Given the description of an element on the screen output the (x, y) to click on. 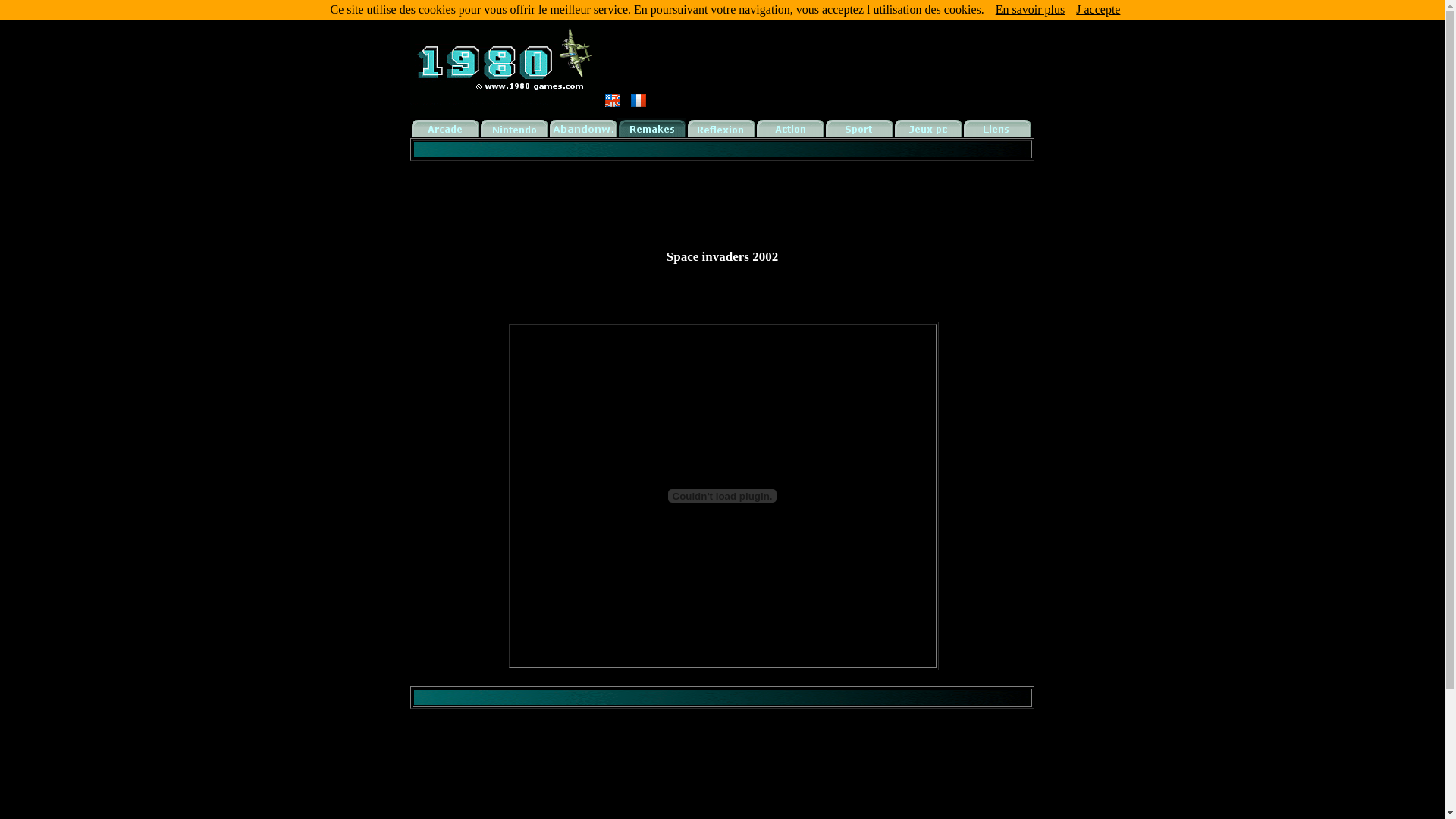
En savoir plus Element type: text (1030, 9)
Advertisement Element type: hover (721, 197)
J accepte Element type: text (1098, 9)
